Given the description of an element on the screen output the (x, y) to click on. 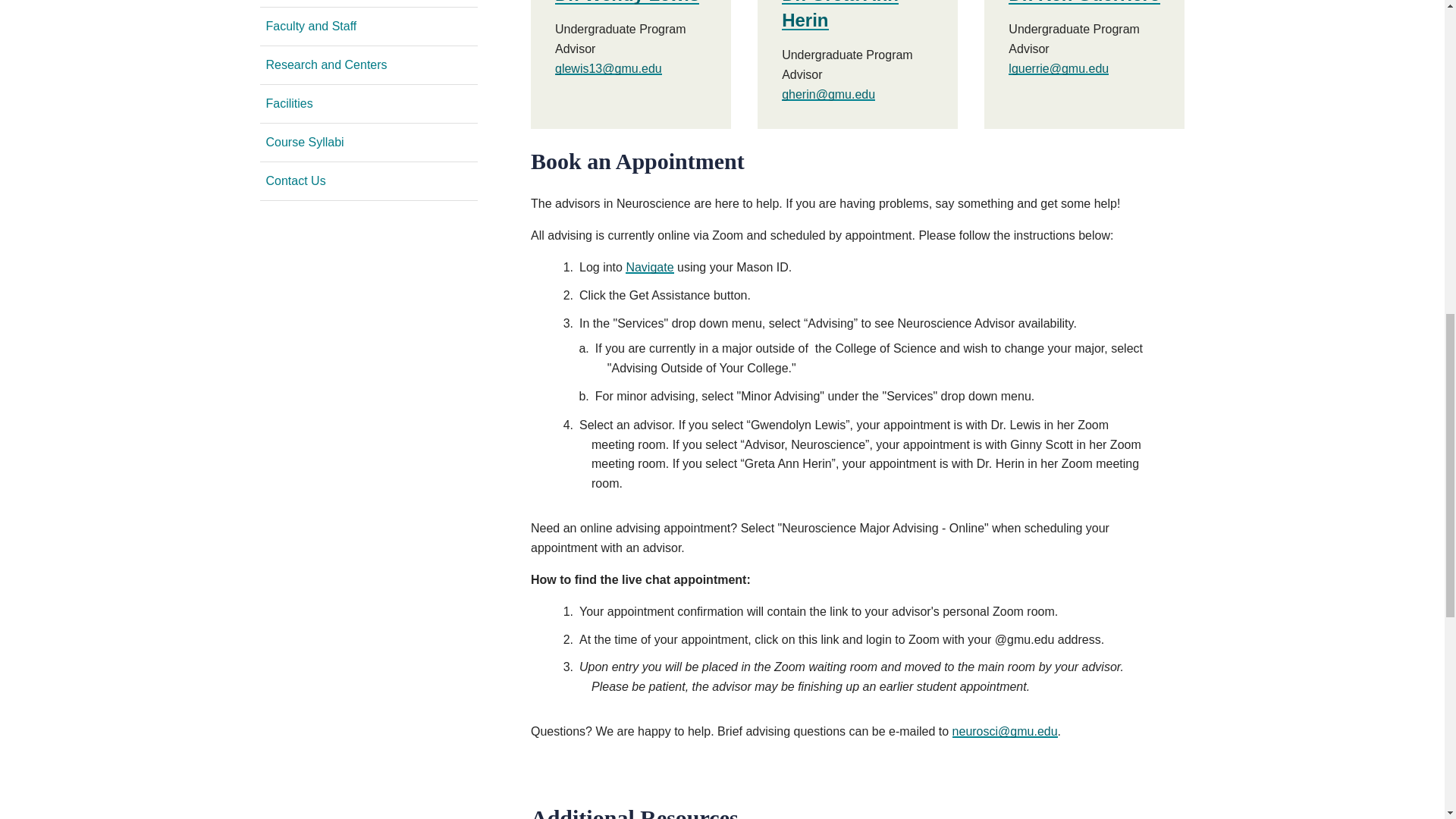
Graduate Programs (368, 3)
Facilities (368, 103)
Contact Us (368, 180)
Course Syllabi (368, 142)
Research and Centers (368, 64)
Faculty and Staff (368, 26)
